Given the description of an element on the screen output the (x, y) to click on. 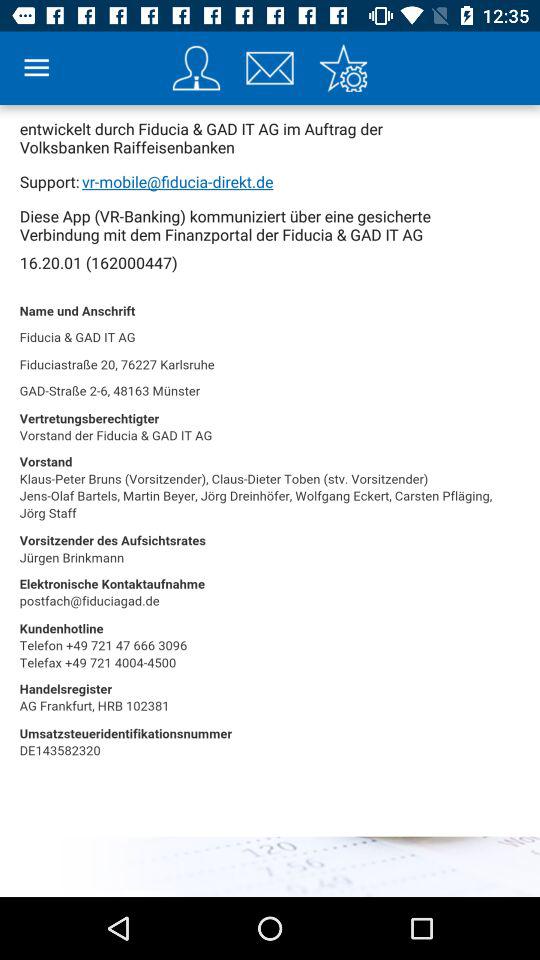
settings option (343, 67)
